Given the description of an element on the screen output the (x, y) to click on. 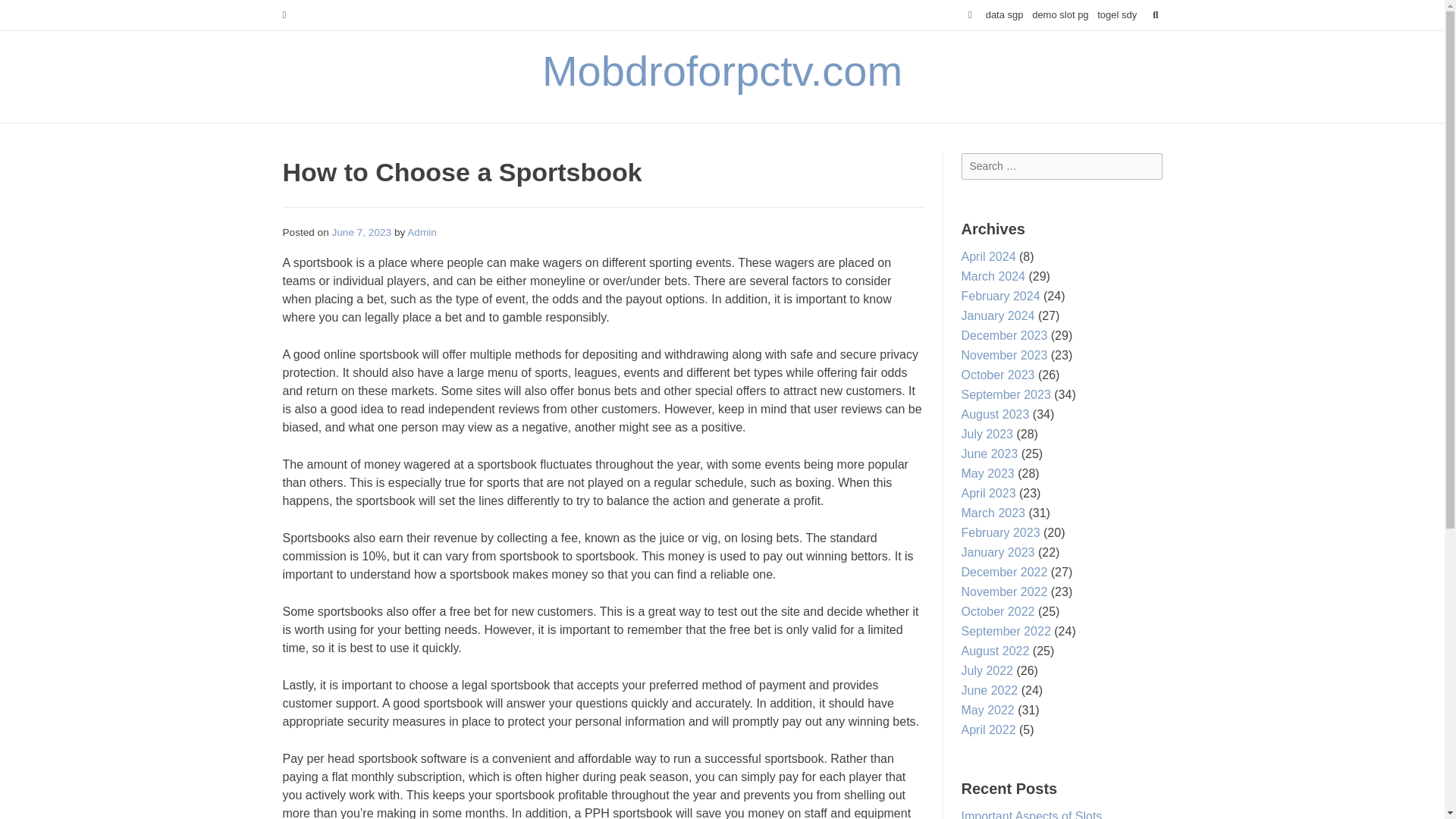
January 2024 (997, 315)
February 2024 (1000, 295)
togel sdy (1117, 14)
June 2022 (988, 689)
April 2022 (988, 729)
March 2023 (993, 512)
May 2022 (987, 709)
June 2023 (988, 453)
May 2023 (987, 472)
June 7, 2023 (361, 232)
